Given the description of an element on the screen output the (x, y) to click on. 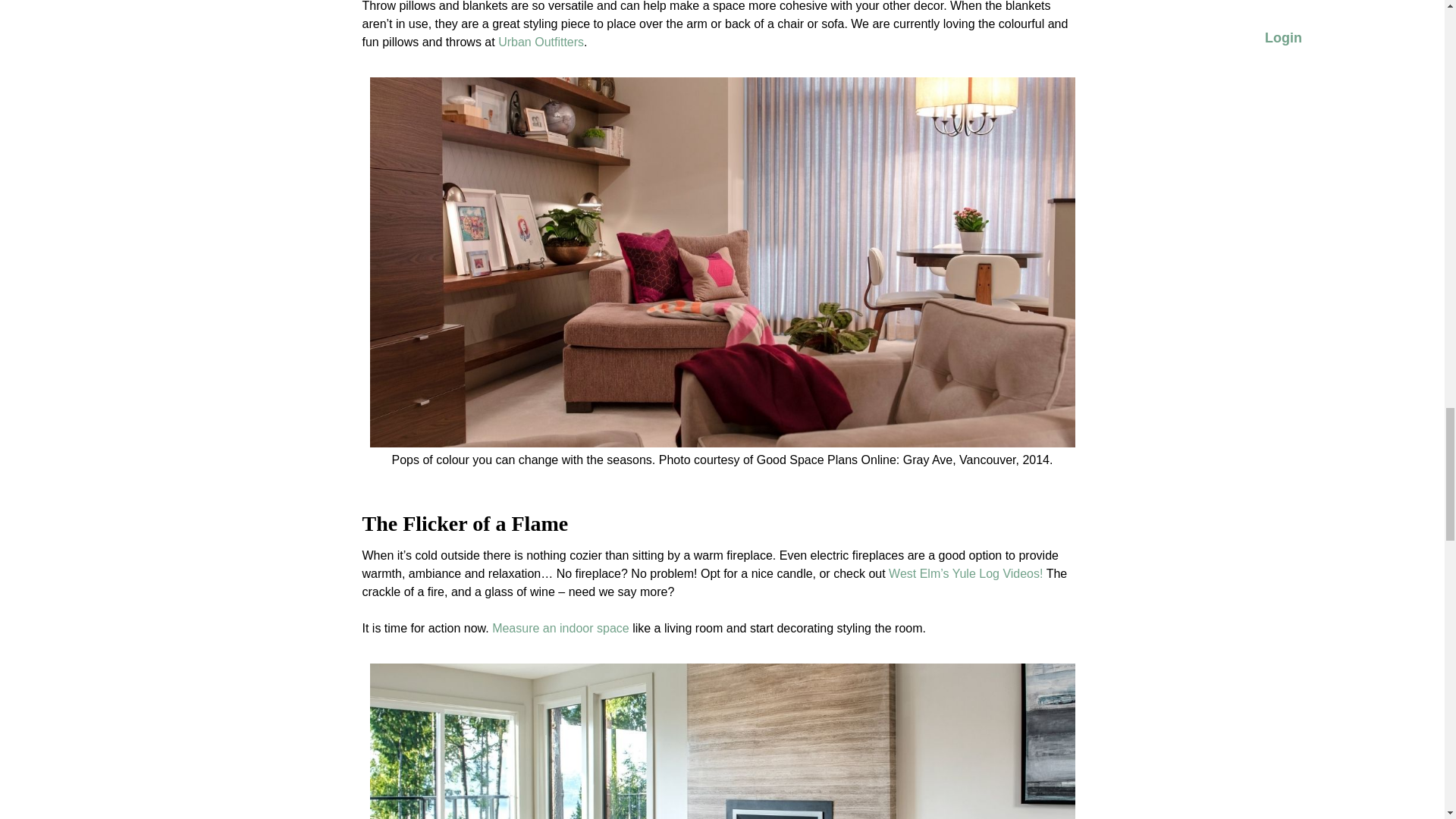
Measure an indoor space (560, 627)
Urban Outfitters (540, 42)
